Given the description of an element on the screen output the (x, y) to click on. 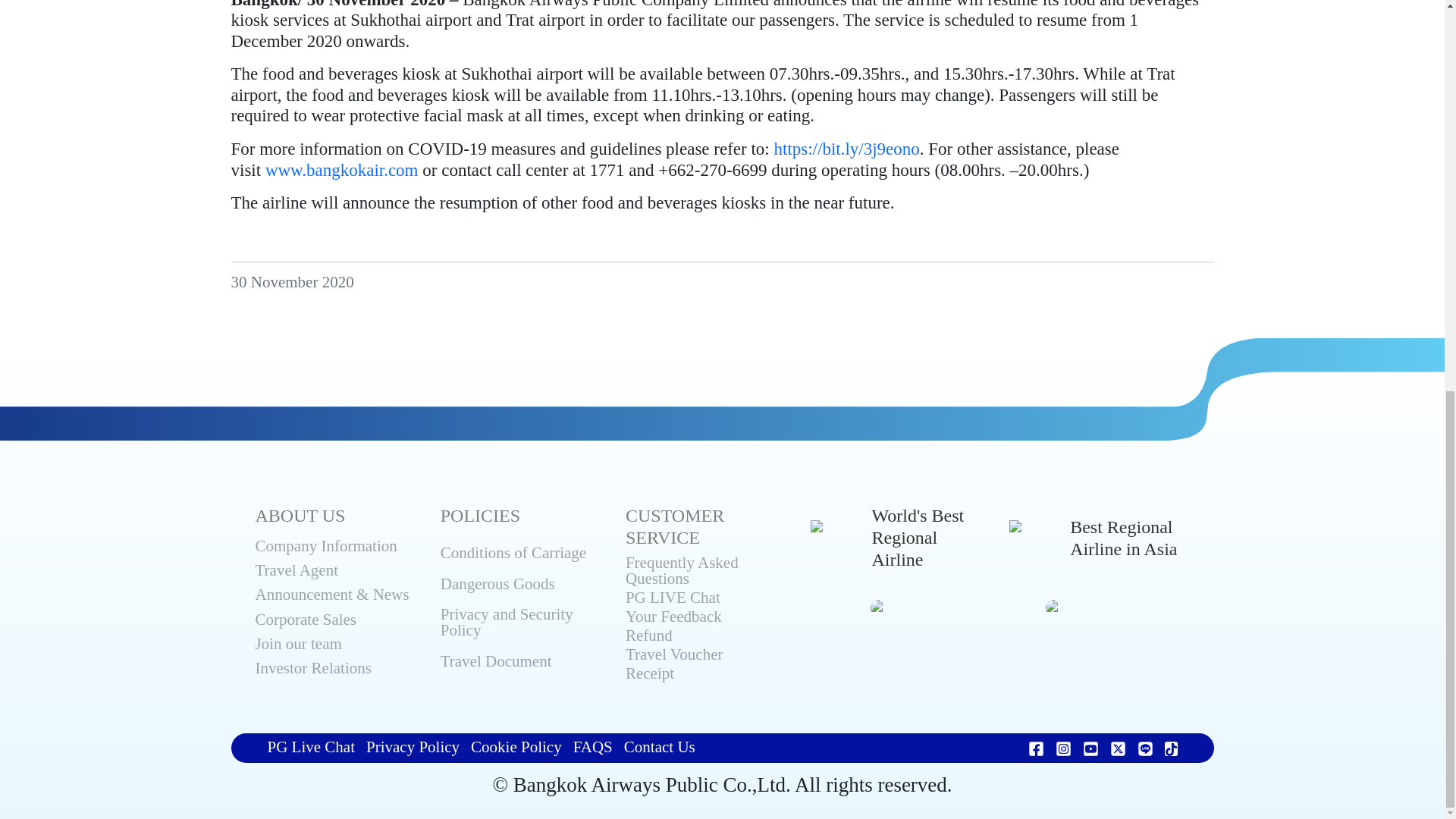
FAQS (592, 747)
Cookie Policy (516, 747)
ABOUT US (299, 515)
PG Live Chat (310, 747)
Conditions of Carriage (524, 560)
Travel Agent (338, 574)
POLICIES (480, 515)
Corporate Sales (338, 623)
Receipt (709, 674)
Travel Voucher (709, 656)
Investor Relations (338, 672)
Refund (709, 637)
Privacy and Security Policy (524, 629)
Dangerous Goods (524, 591)
PG LIVE Chat (709, 599)
